Given the description of an element on the screen output the (x, y) to click on. 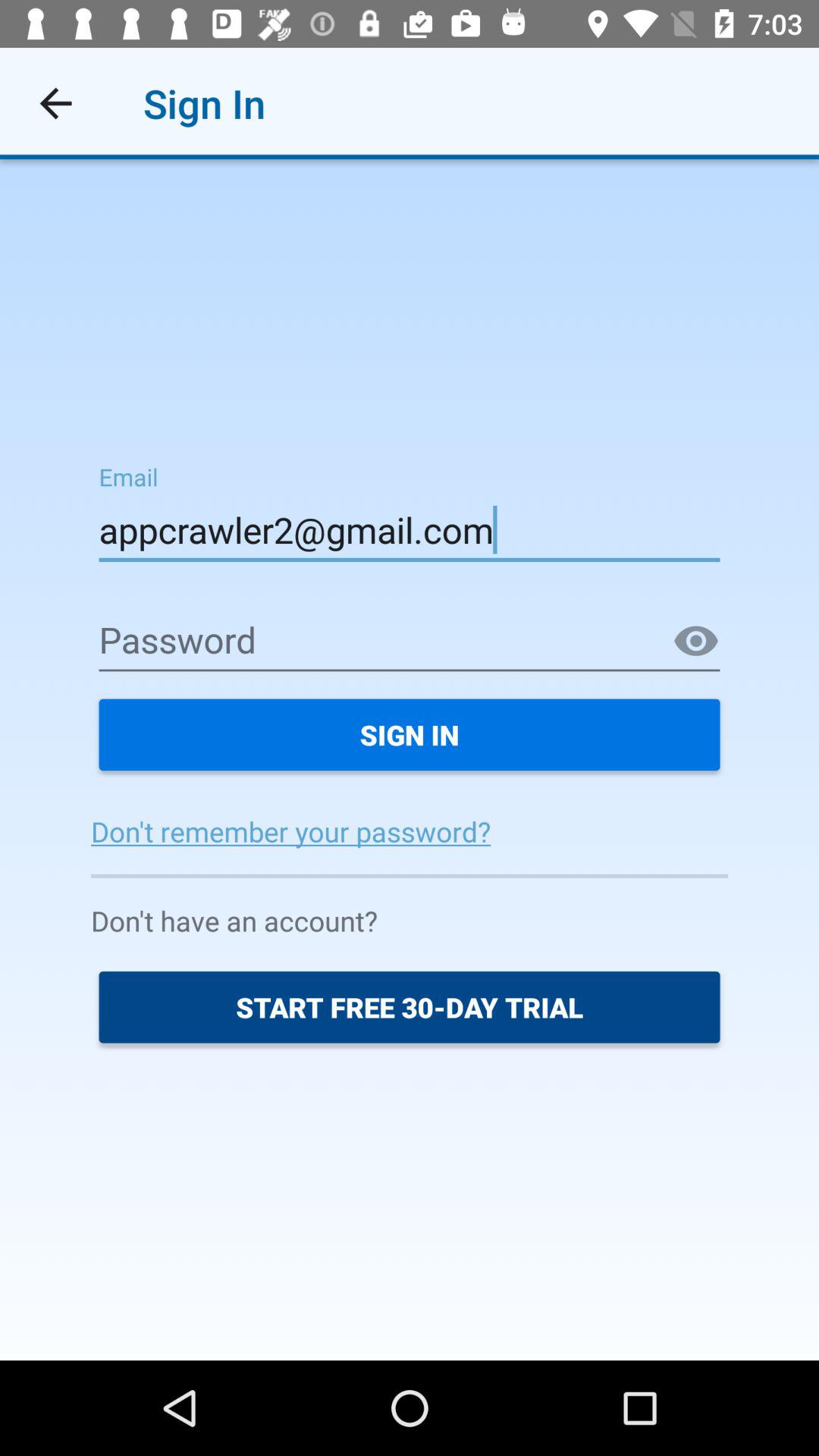
show password (696, 641)
